Given the description of an element on the screen output the (x, y) to click on. 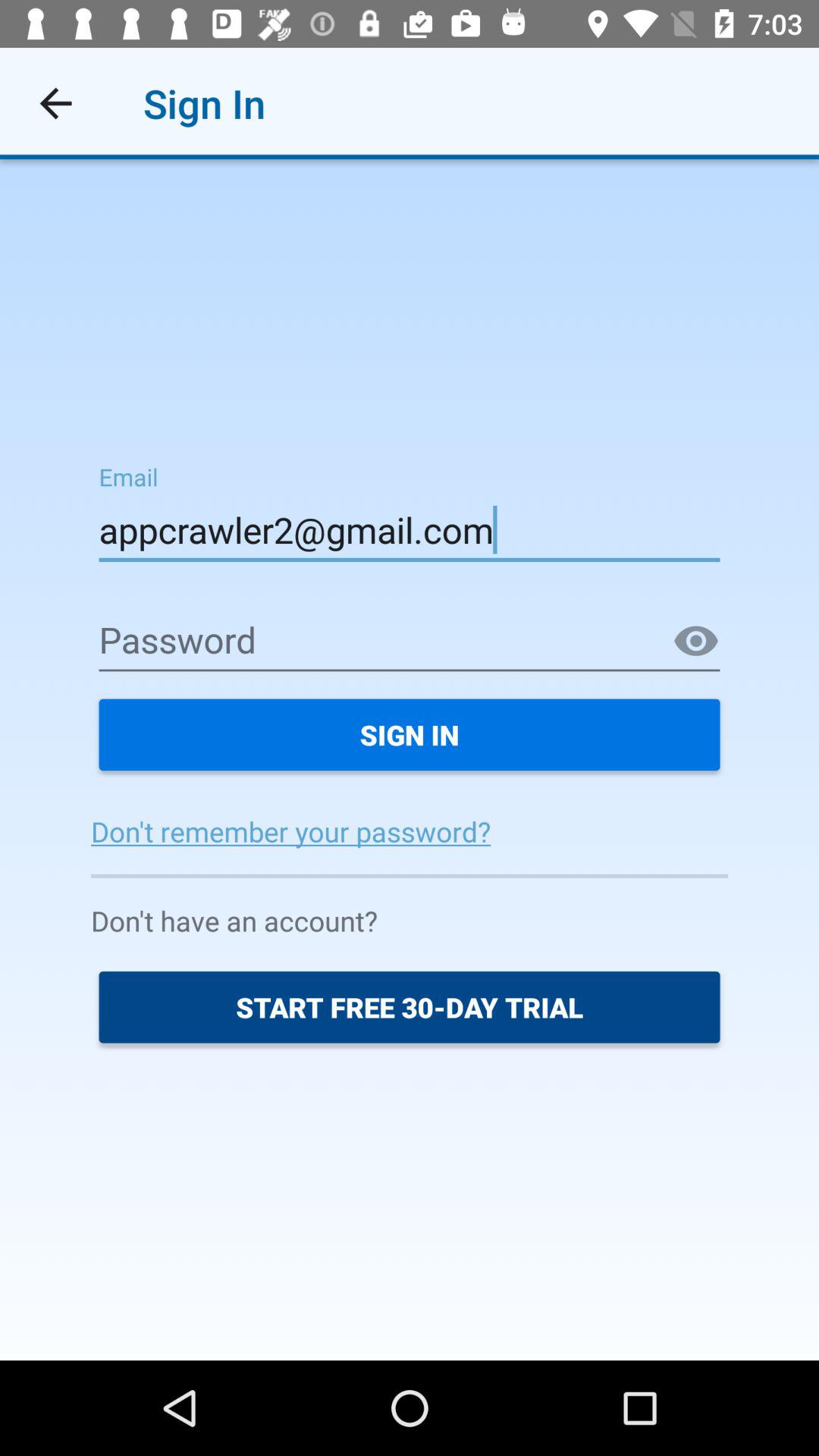
show password (696, 641)
